Given the description of an element on the screen output the (x, y) to click on. 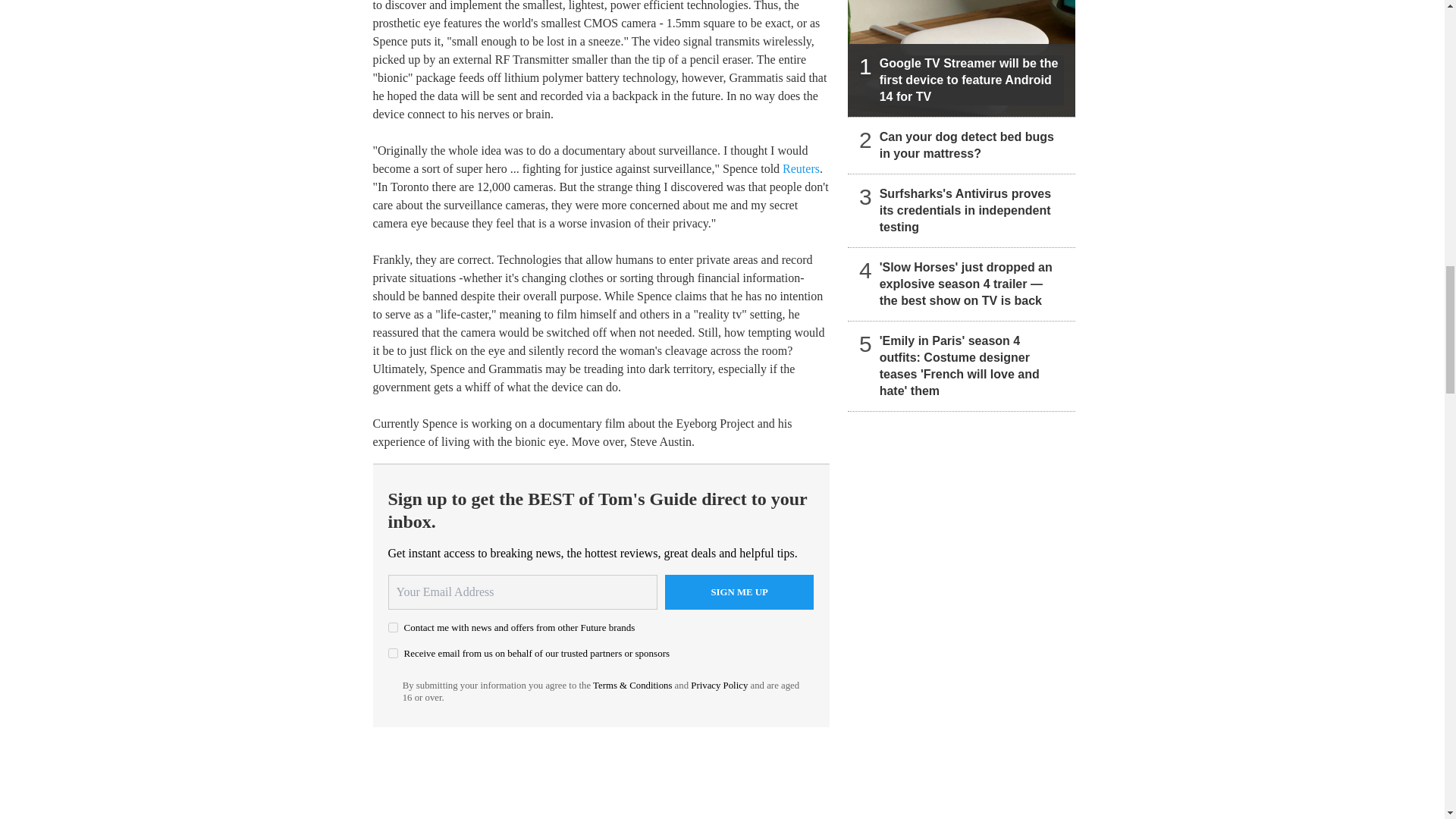
on (392, 653)
Sign me up (739, 591)
on (392, 627)
